Given the description of an element on the screen output the (x, y) to click on. 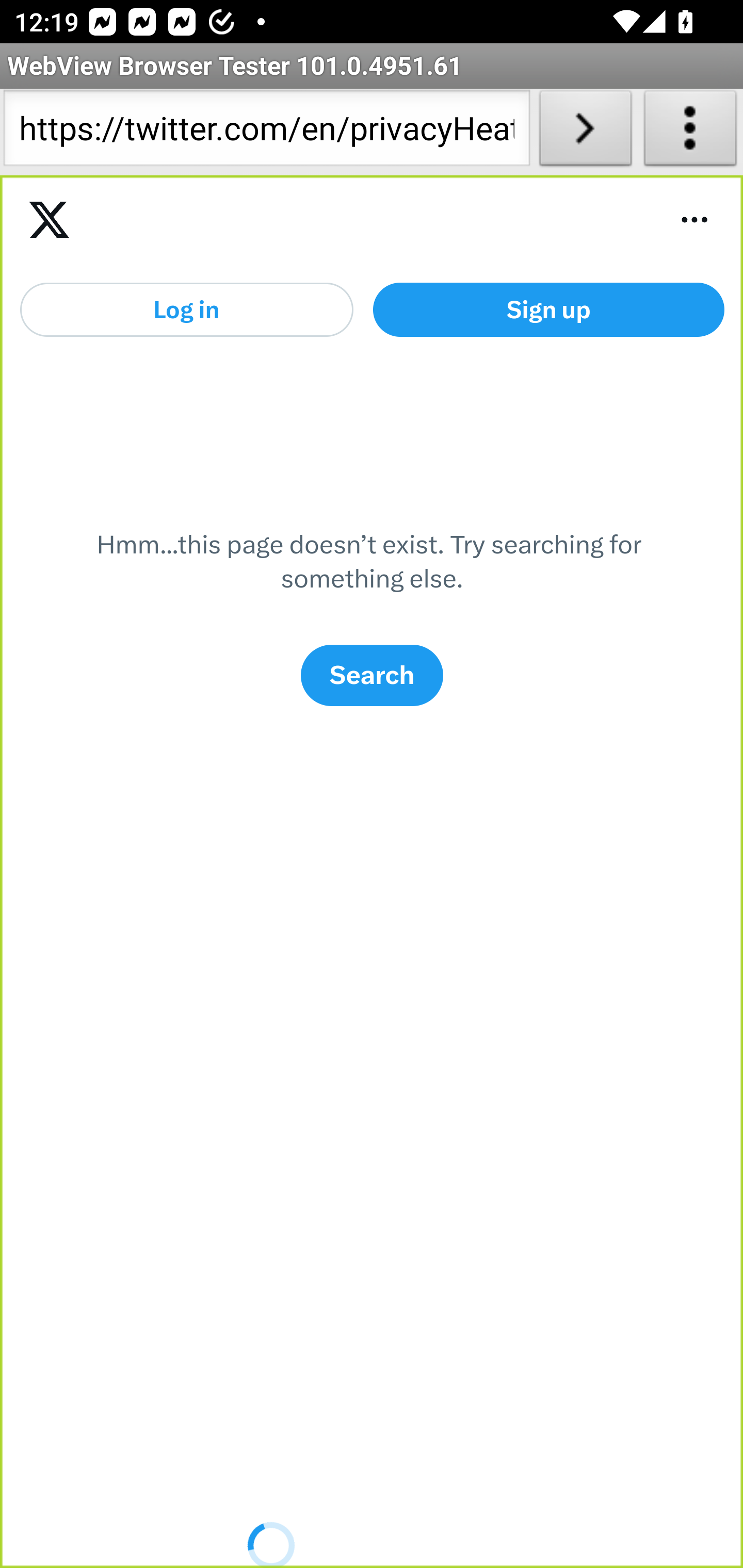
https://twitter.com/en/privacyHeat (266, 132)
Load URL (585, 132)
About WebView (690, 132)
Search (371, 674)
